Given the description of an element on the screen output the (x, y) to click on. 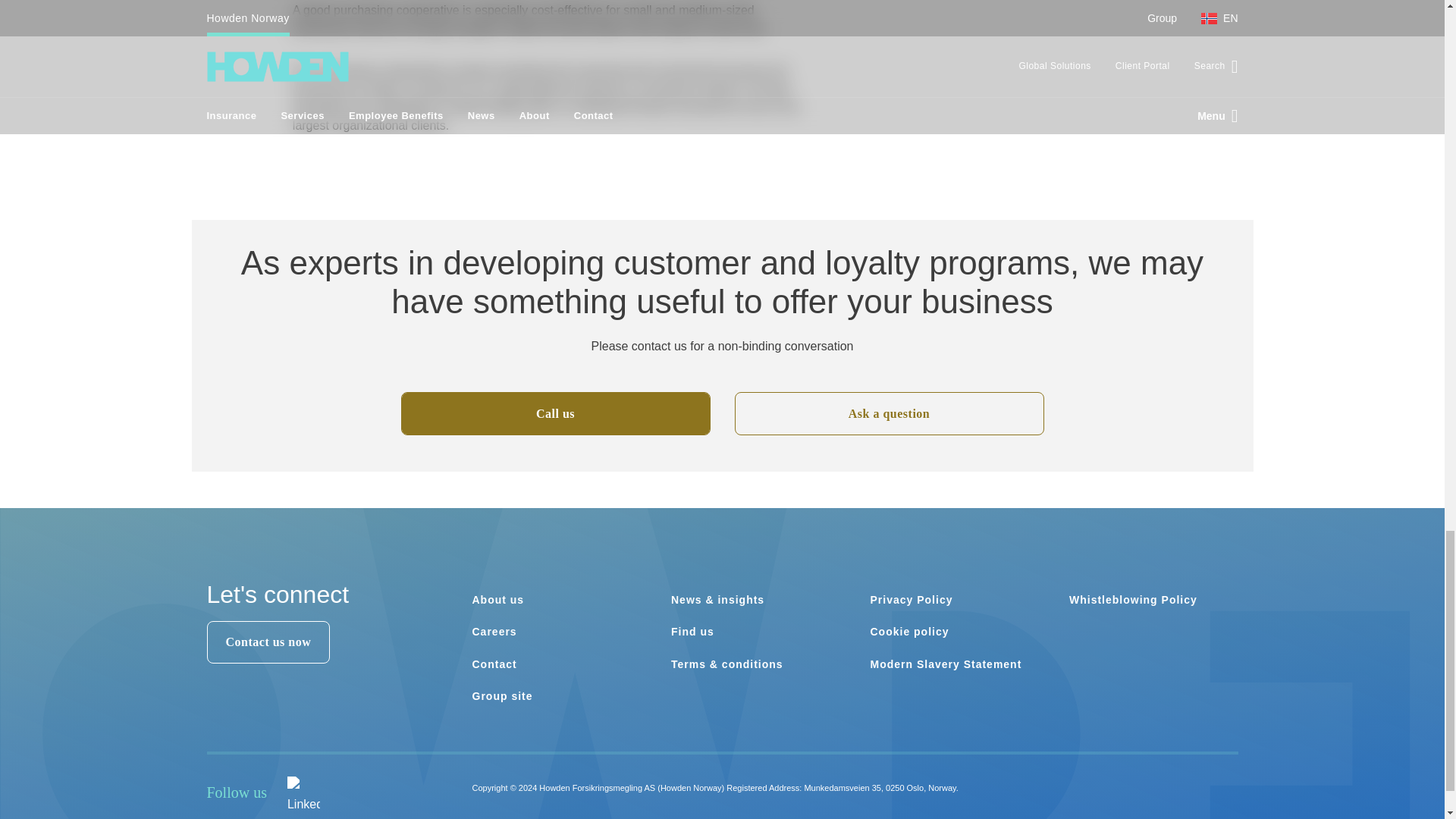
Whistleblowing Policy (1132, 599)
Modern Slavery Statement (946, 664)
Find us (692, 631)
Cookie policy (909, 631)
Privacy Policy (911, 599)
Contact (493, 664)
About us (497, 599)
Group site (501, 695)
Careers (493, 631)
